Given the description of an element on the screen output the (x, y) to click on. 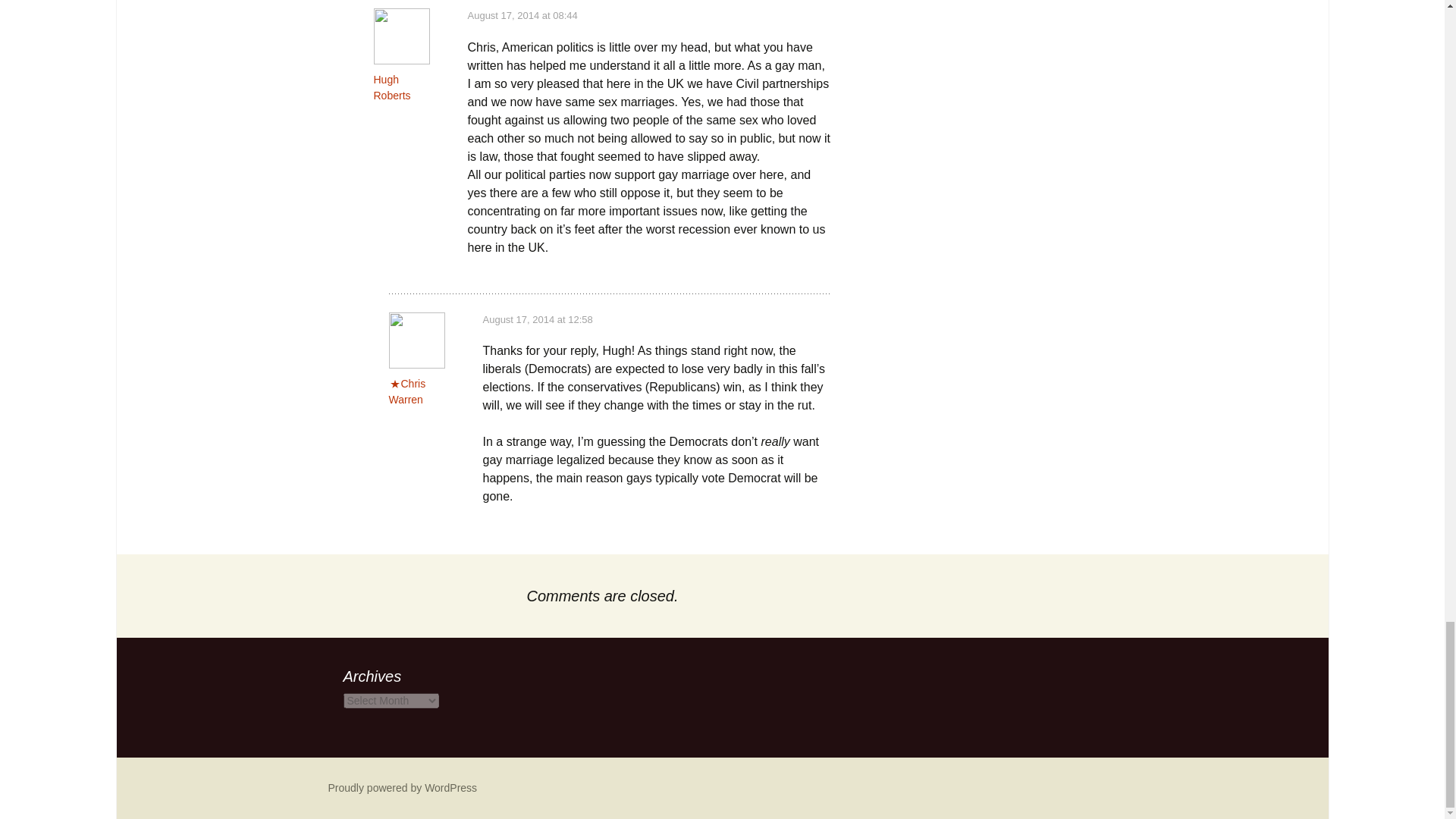
Semantic Personal Publishing Platform (402, 787)
